Given the description of an element on the screen output the (x, y) to click on. 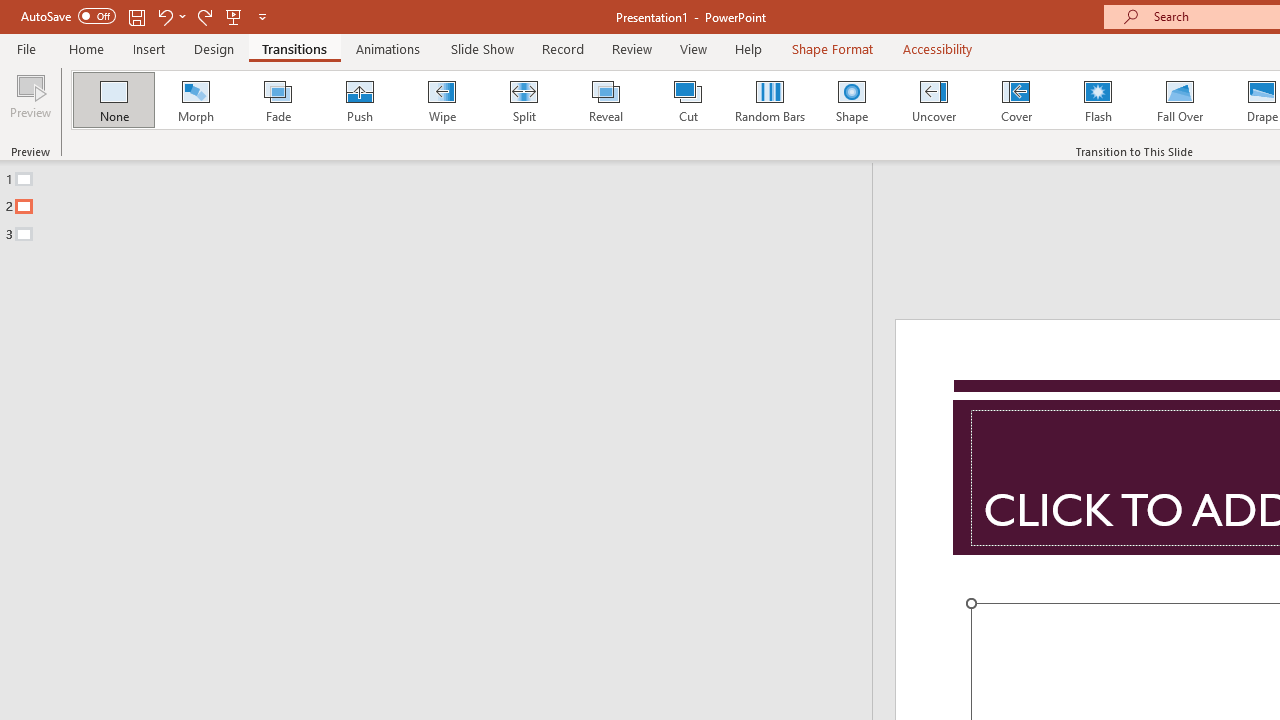
Uncover (934, 100)
Cover (1016, 100)
